Given the description of an element on the screen output the (x, y) to click on. 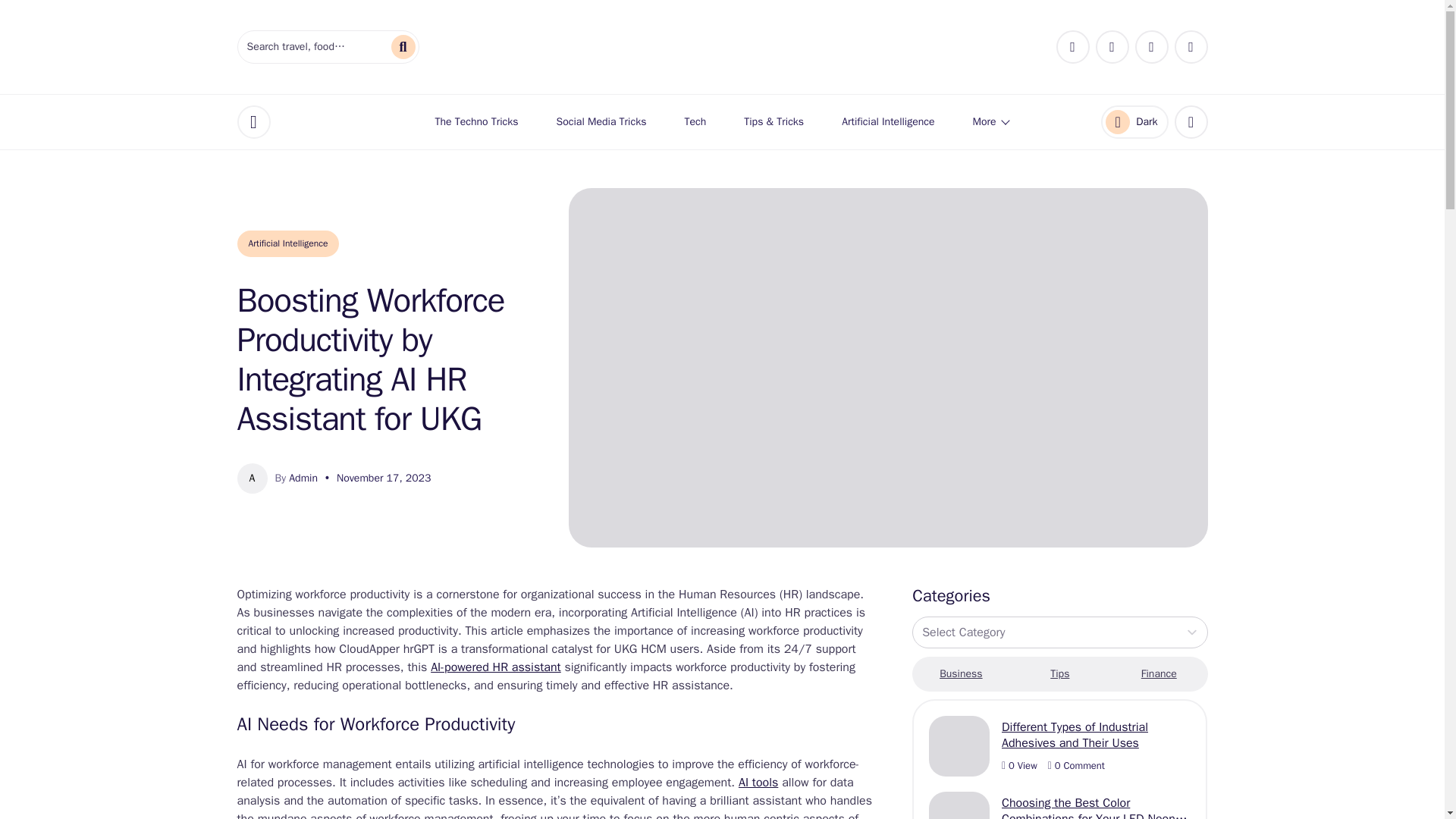
AI-powered HR assistant (495, 667)
youtube (1150, 46)
Artificial Intelligence (287, 243)
Open menu (1133, 121)
Tips (252, 121)
Social Media Tricks (1059, 673)
Artificial Intelligence (601, 121)
